Given the description of an element on the screen output the (x, y) to click on. 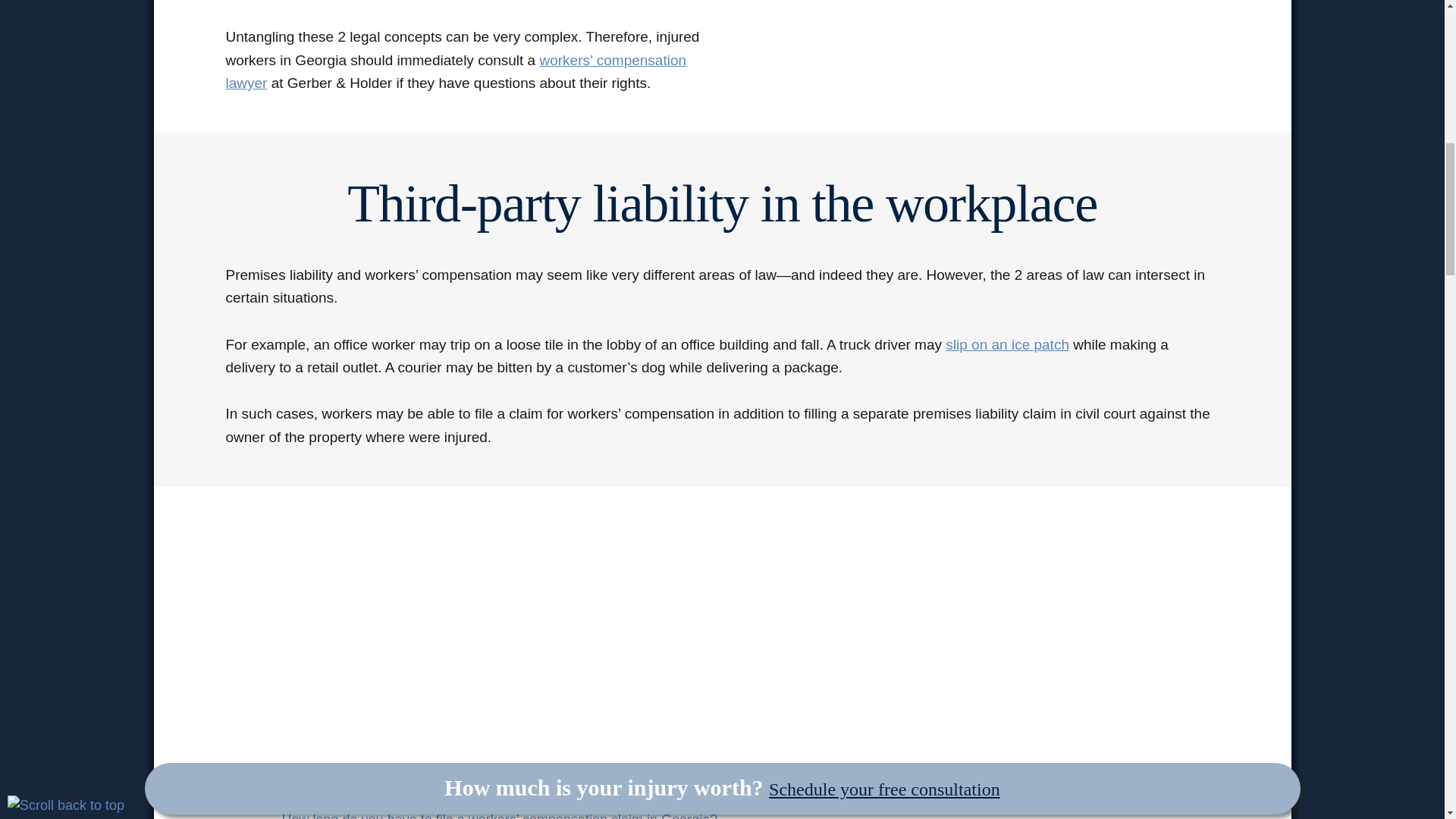
slip on an ice patch (1006, 344)
